Given the description of an element on the screen output the (x, y) to click on. 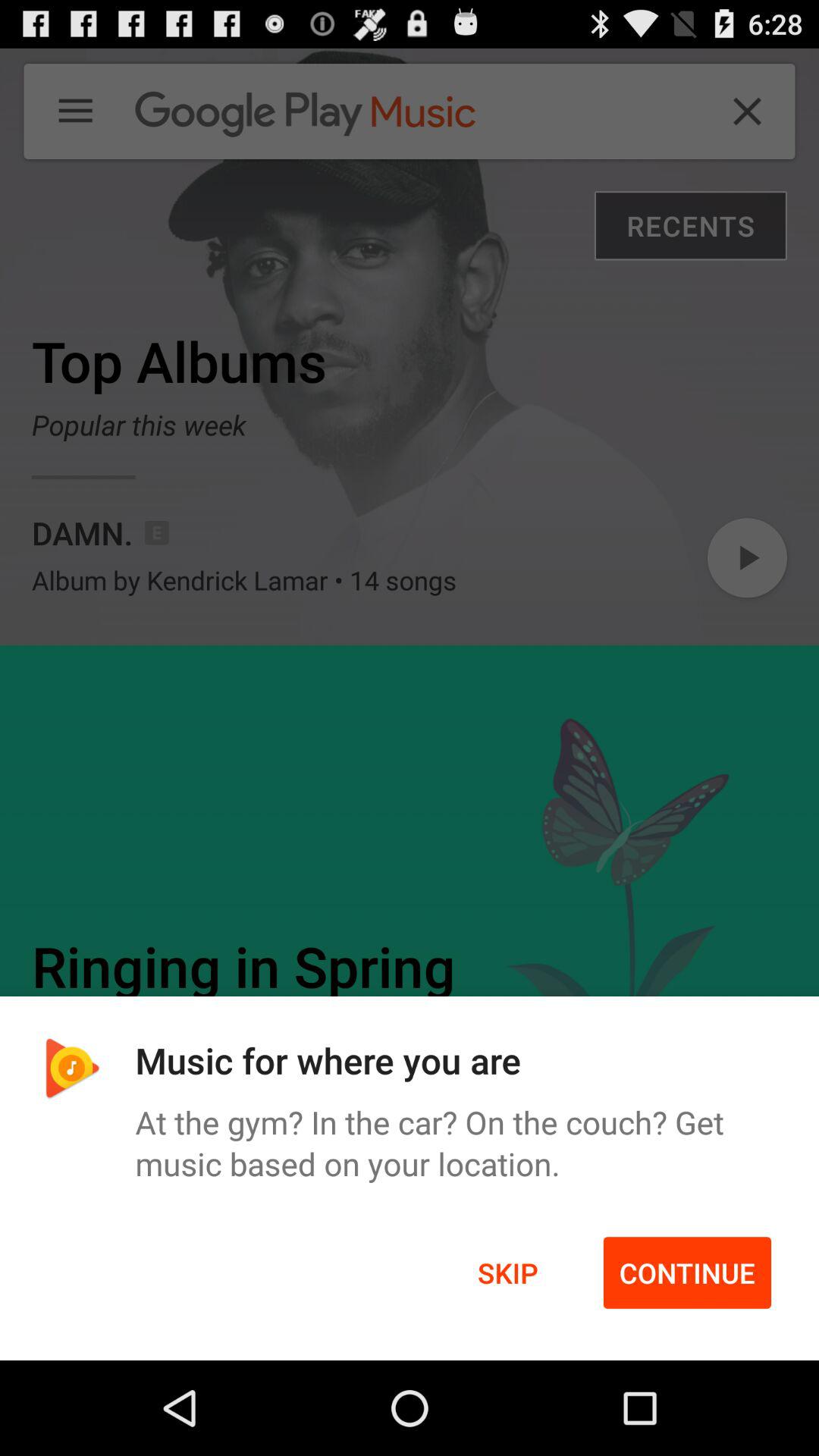
scroll to the continue (687, 1272)
